Given the description of an element on the screen output the (x, y) to click on. 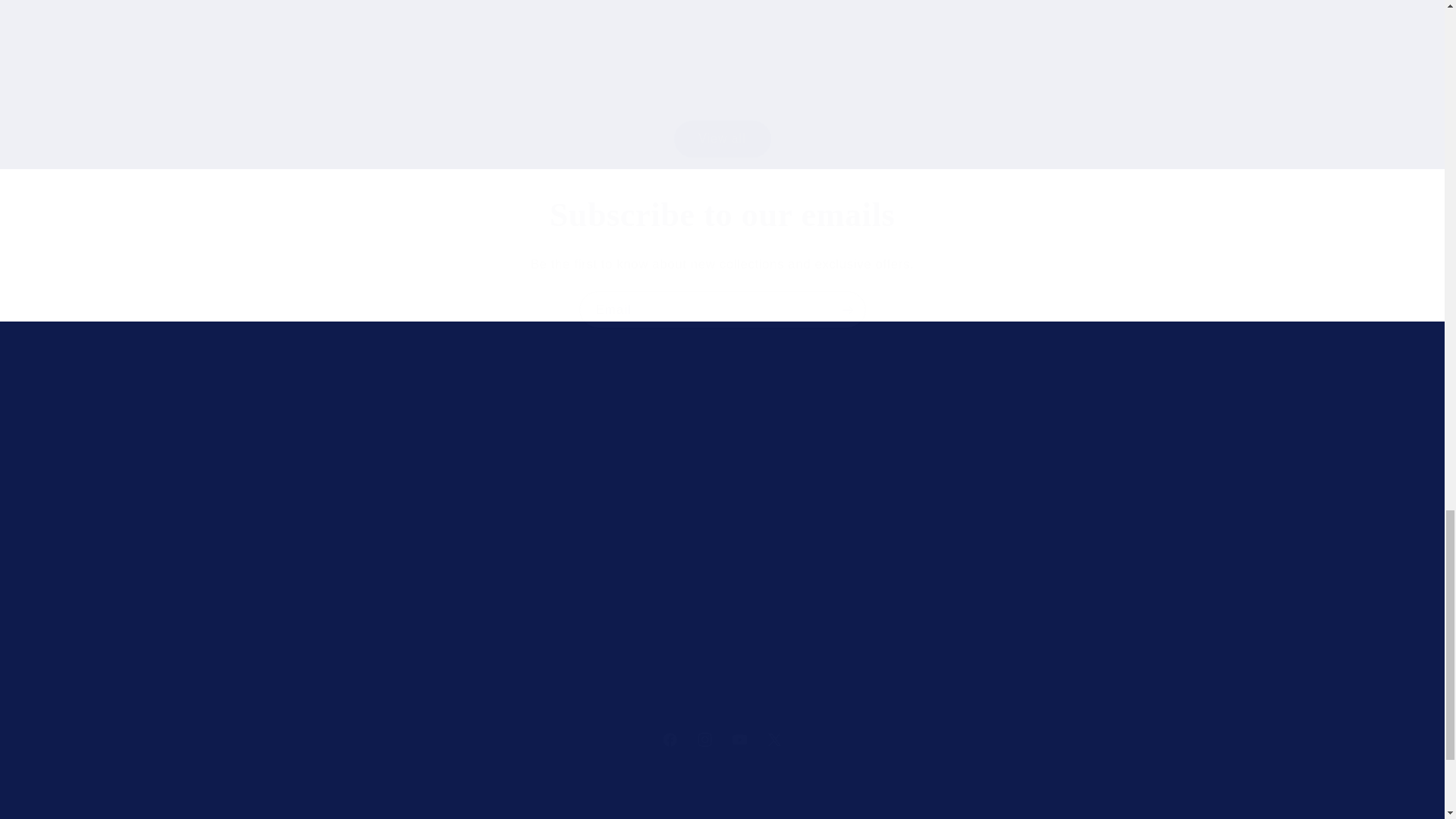
Subscribe to our emails (722, 215)
tel:0031104613131 (805, 574)
Email (722, 309)
